Given the description of an element on the screen output the (x, y) to click on. 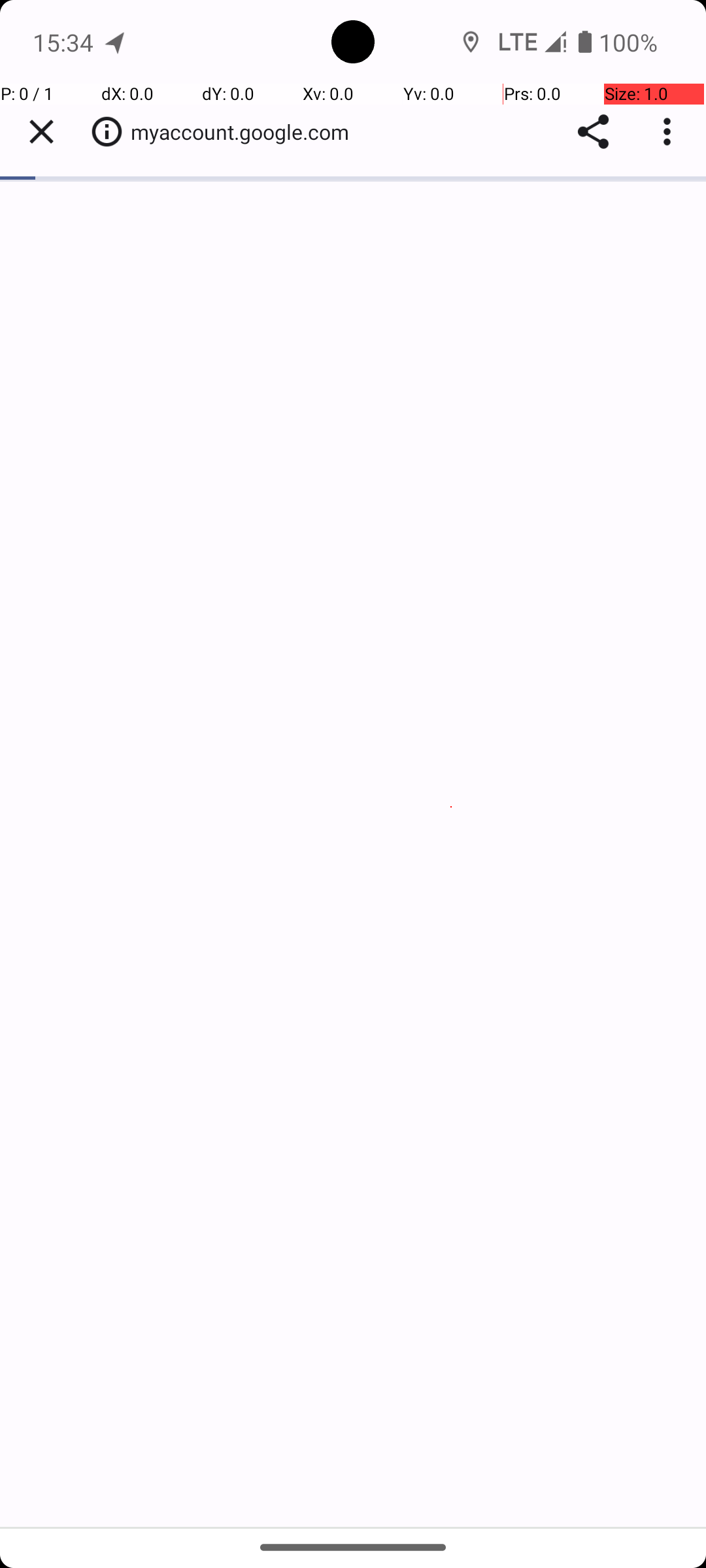
myaccount.google.com Element type: android.widget.TextView (246, 131)
